Given the description of an element on the screen output the (x, y) to click on. 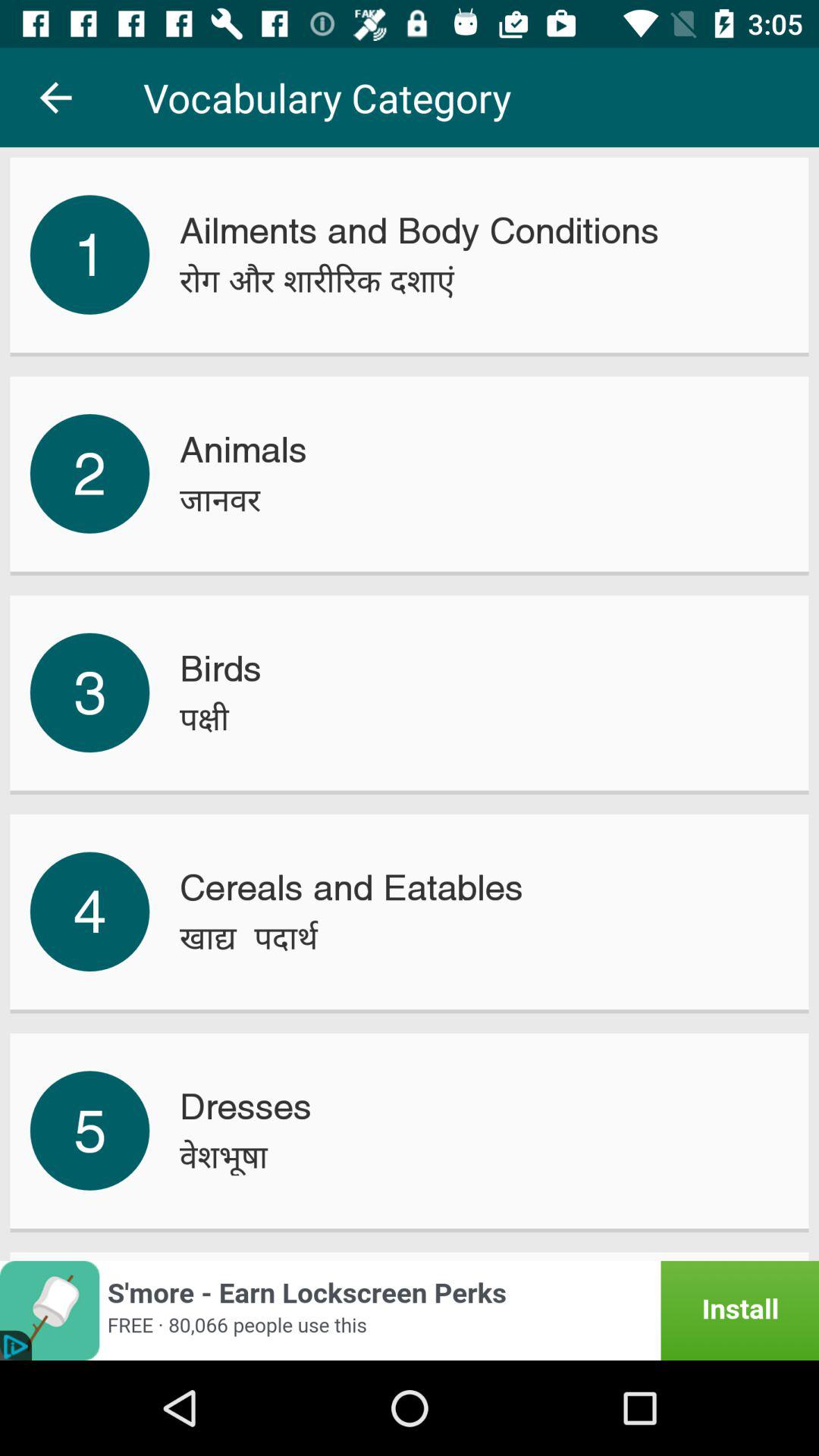
press the icon to the right of the 5 (223, 1156)
